Given the description of an element on the screen output the (x, y) to click on. 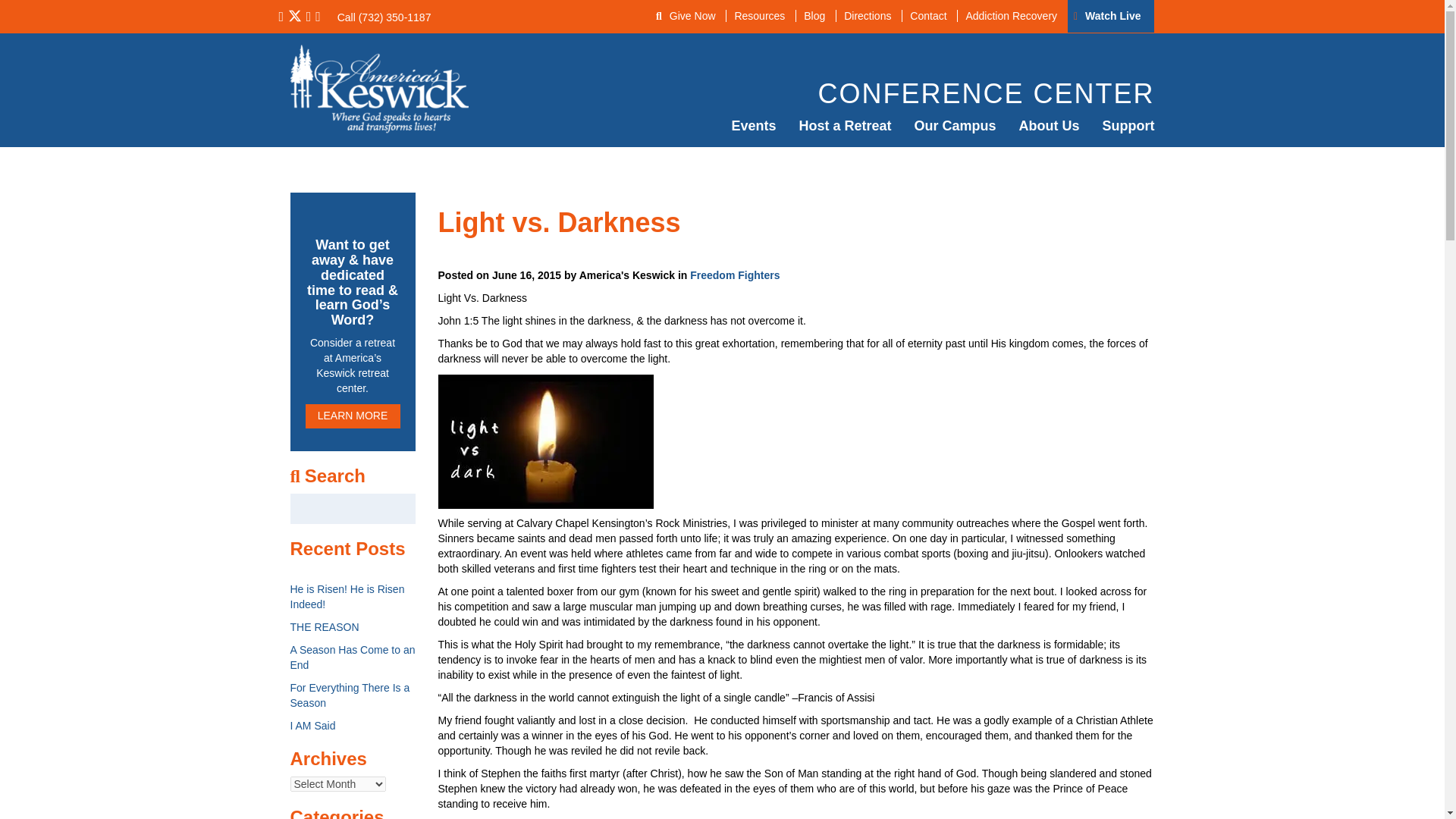
Host a Retreat (844, 125)
Blog (813, 15)
Christian Events in NJ (753, 125)
Events (753, 125)
Contact (927, 15)
Christian Retreat Center (844, 125)
Give Now (692, 15)
Directions (866, 15)
Watch Live (1112, 15)
Addiction Recovery (1010, 15)
